Given the description of an element on the screen output the (x, y) to click on. 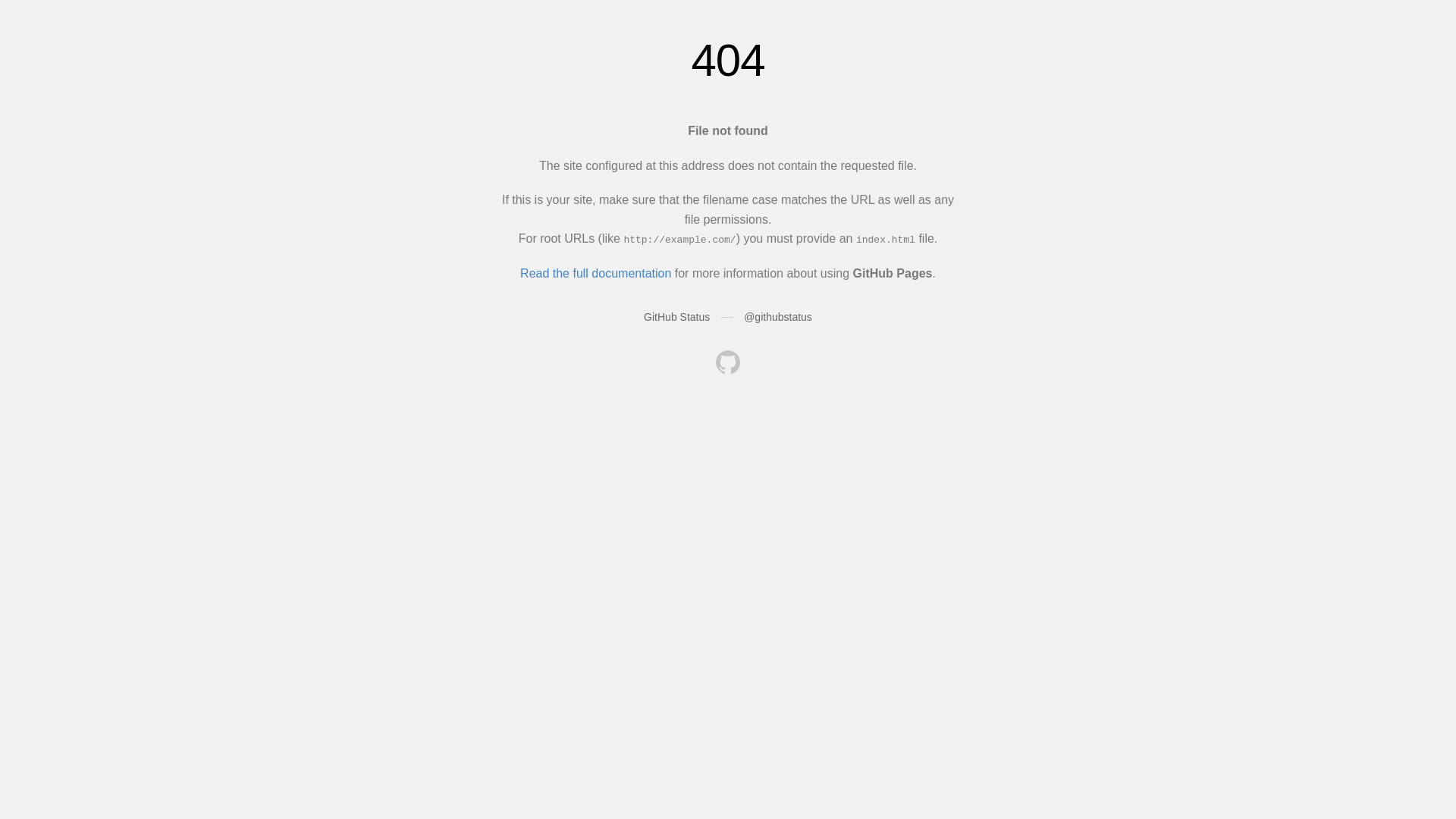
@githubstatus Element type: text (777, 316)
Read the full documentation Element type: text (595, 272)
GitHub Status Element type: text (676, 316)
